Given the description of an element on the screen output the (x, y) to click on. 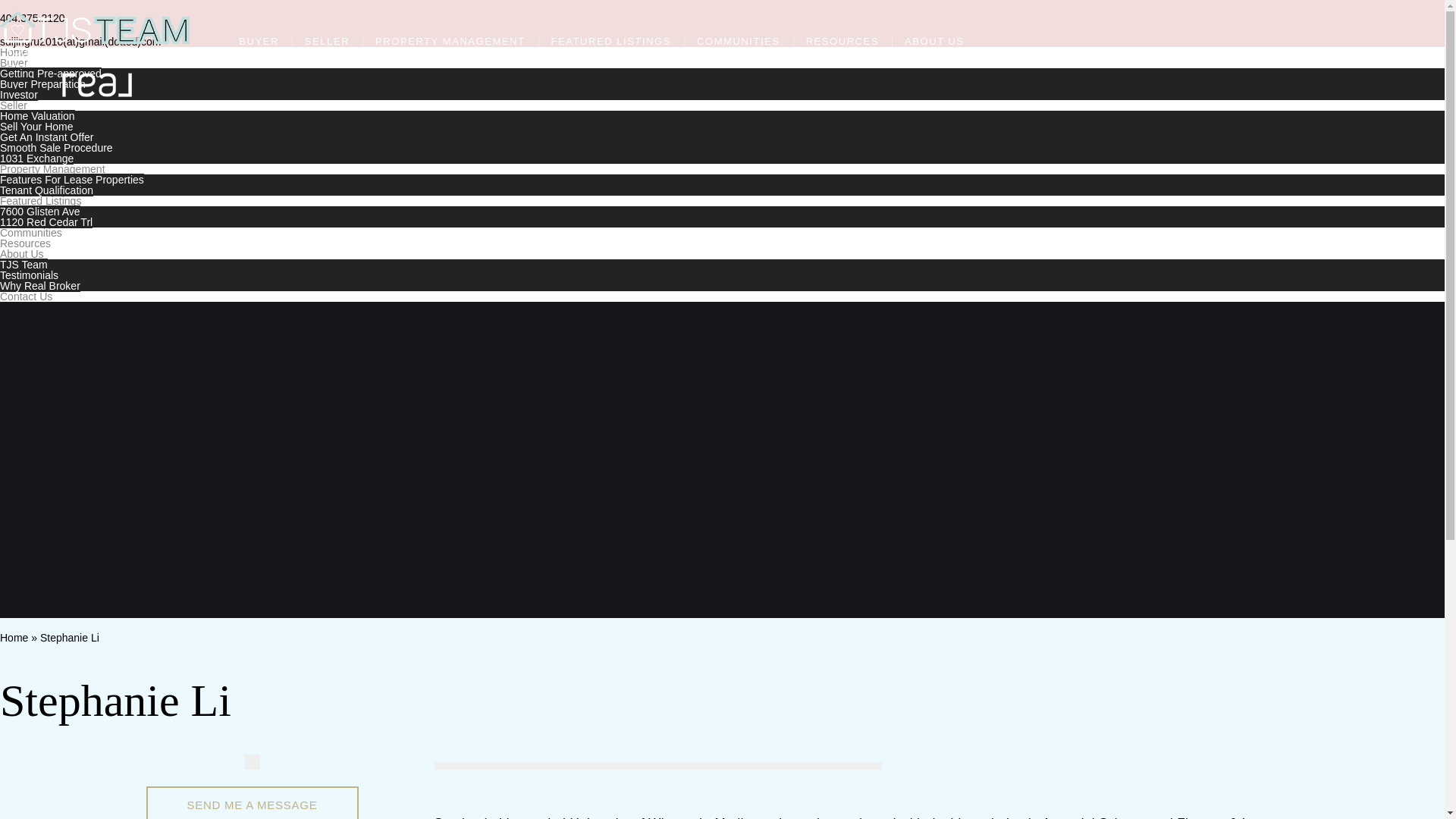
Resources (25, 243)
1120 Red Cedar Trl (46, 222)
About Us (21, 254)
Home Valuation (37, 115)
Contact Us (26, 296)
SELLER (326, 41)
Get An Instant Offer (46, 137)
BUYER (258, 41)
7600 Glisten Ave (40, 211)
Investor (18, 94)
